Given the description of an element on the screen output the (x, y) to click on. 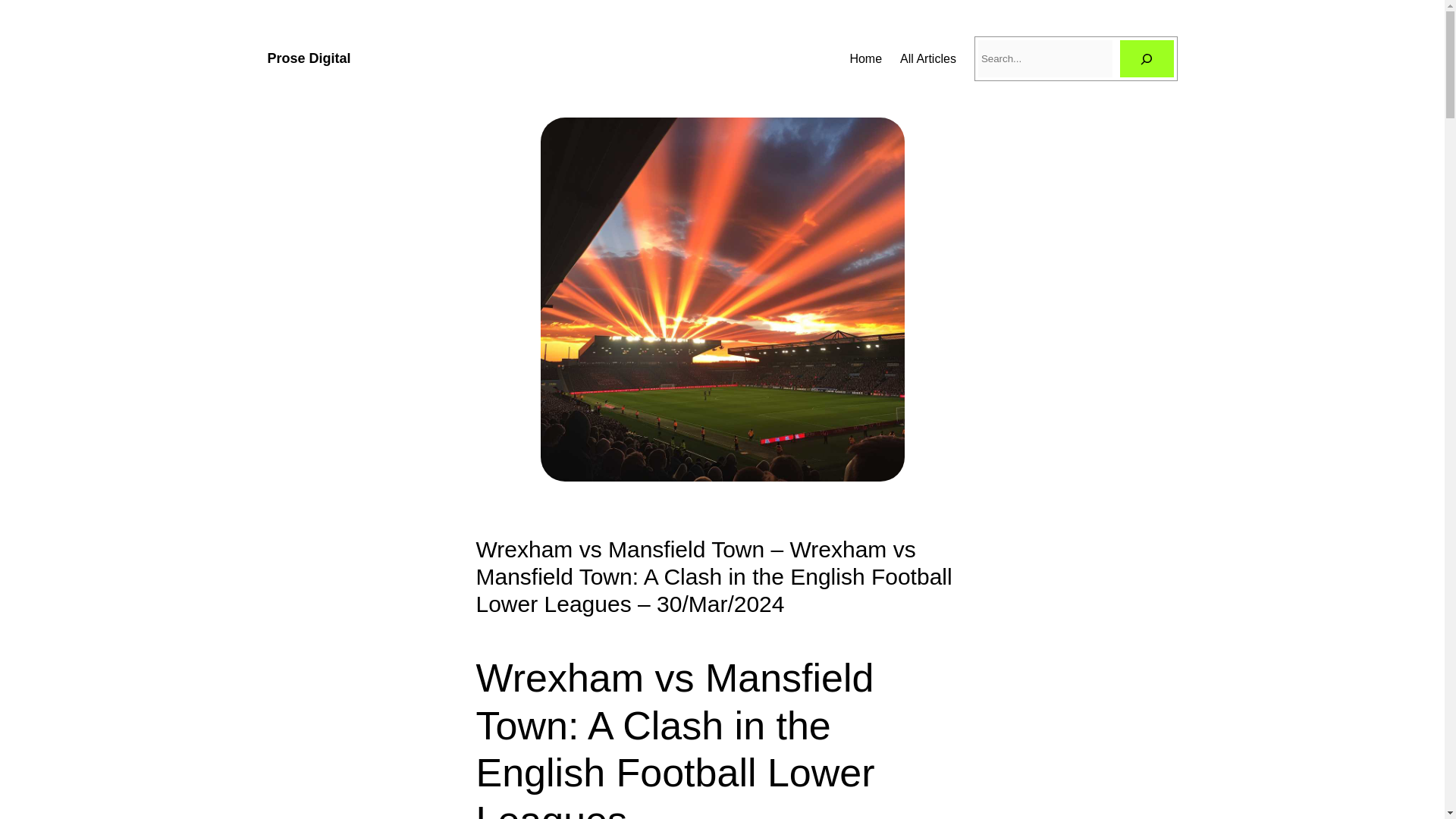
Prose Digital (308, 58)
All Articles (927, 58)
Home (865, 58)
